Given the description of an element on the screen output the (x, y) to click on. 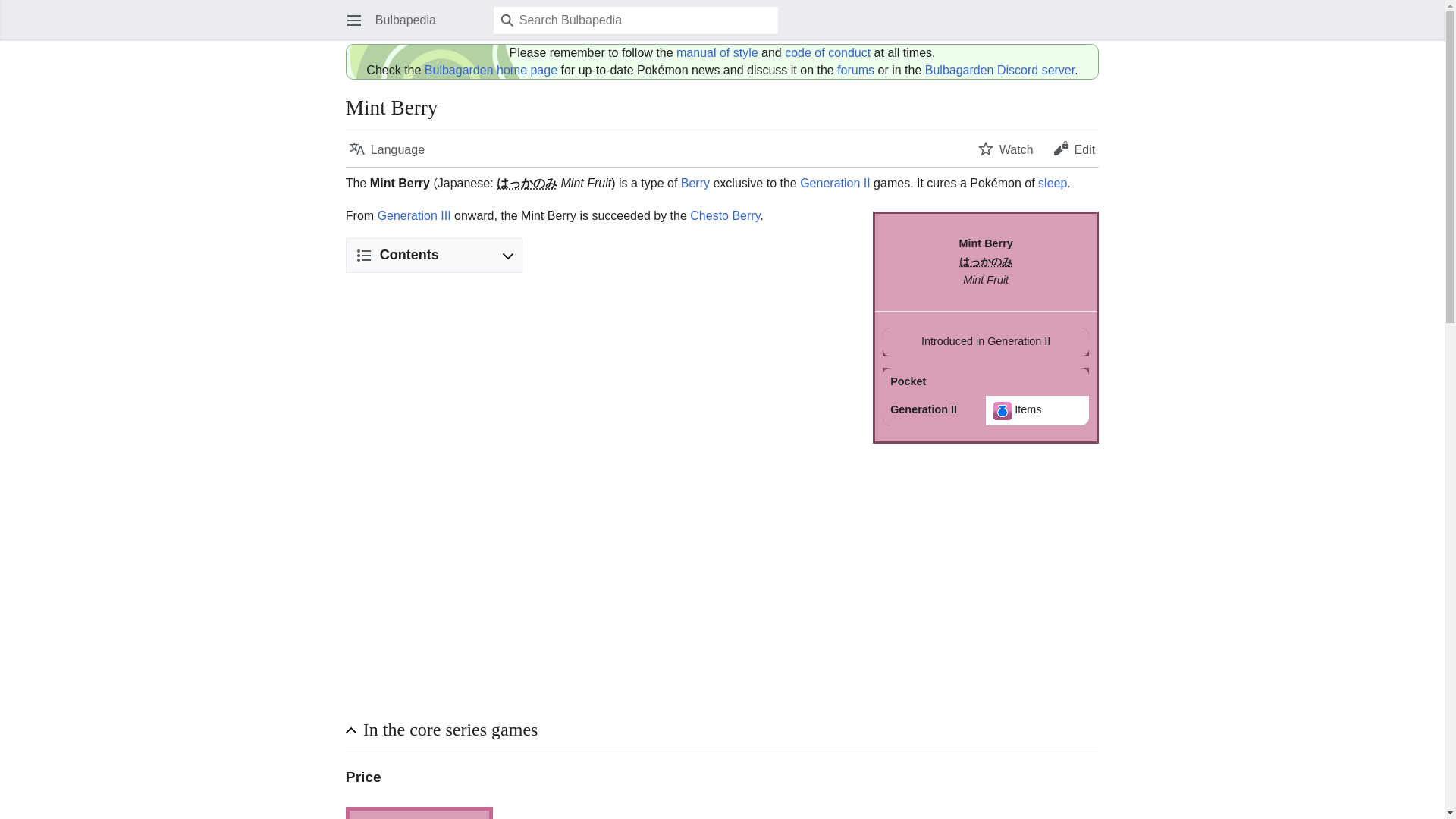
Language (386, 148)
sleep (1052, 182)
Generation III (414, 215)
Chesto Berry (725, 215)
Bulbagarden Discord server (999, 69)
Bulbapedia:Code of conduct (827, 51)
manual of style (717, 51)
Watch (1005, 148)
Generation II (834, 182)
Edit (1074, 148)
Language (386, 148)
Hakka no Mi (526, 182)
Open main menu (353, 20)
Bulbagarden home page (491, 69)
code of conduct (827, 51)
